Given the description of an element on the screen output the (x, y) to click on. 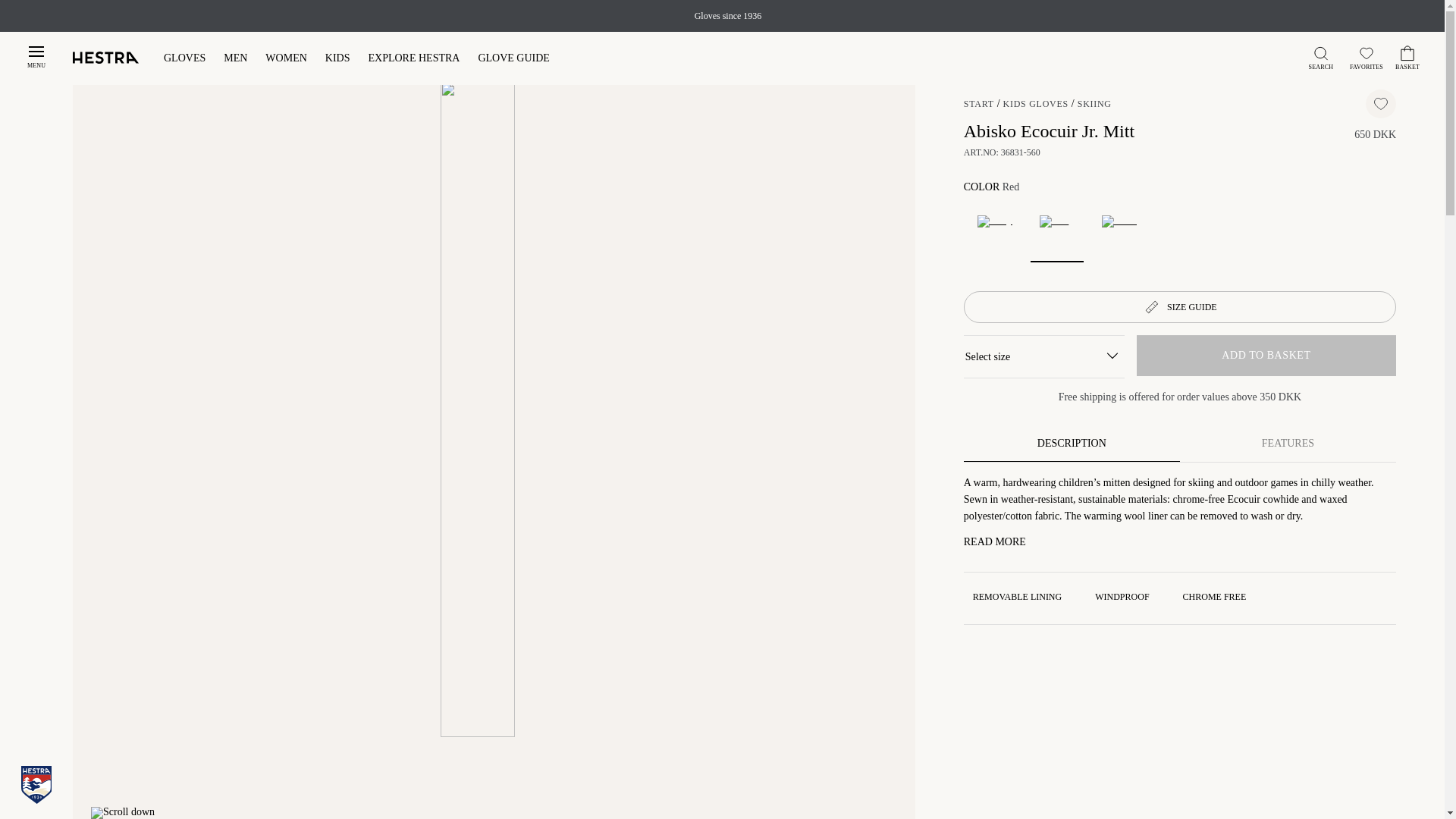
GLOVES (184, 58)
Image displaying the Hestra logotype (105, 58)
MEN (235, 58)
Image displaying the Hestra logotype (105, 57)
